Given the description of an element on the screen output the (x, y) to click on. 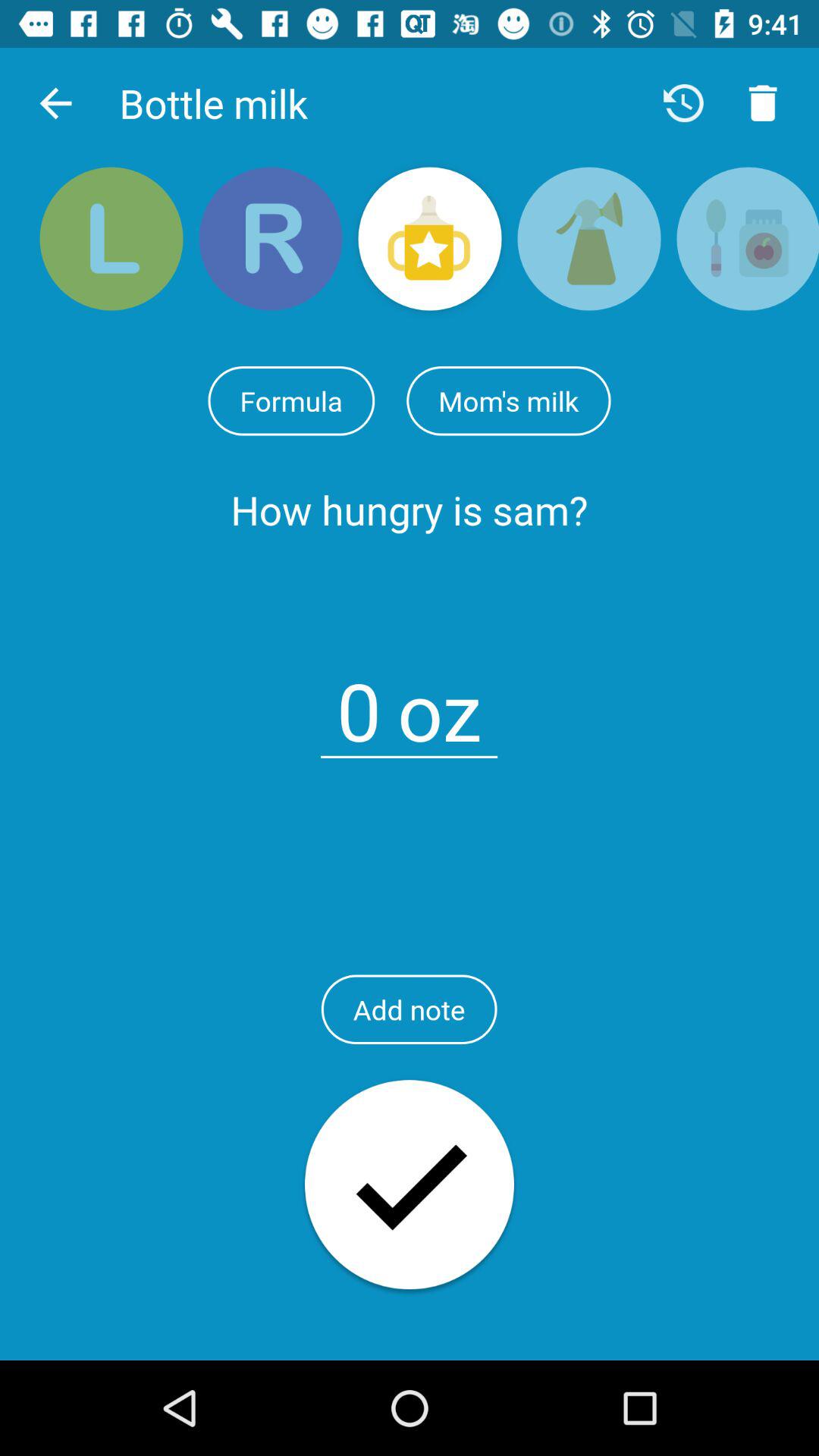
enter ounces of formula (358, 702)
